Given the description of an element on the screen output the (x, y) to click on. 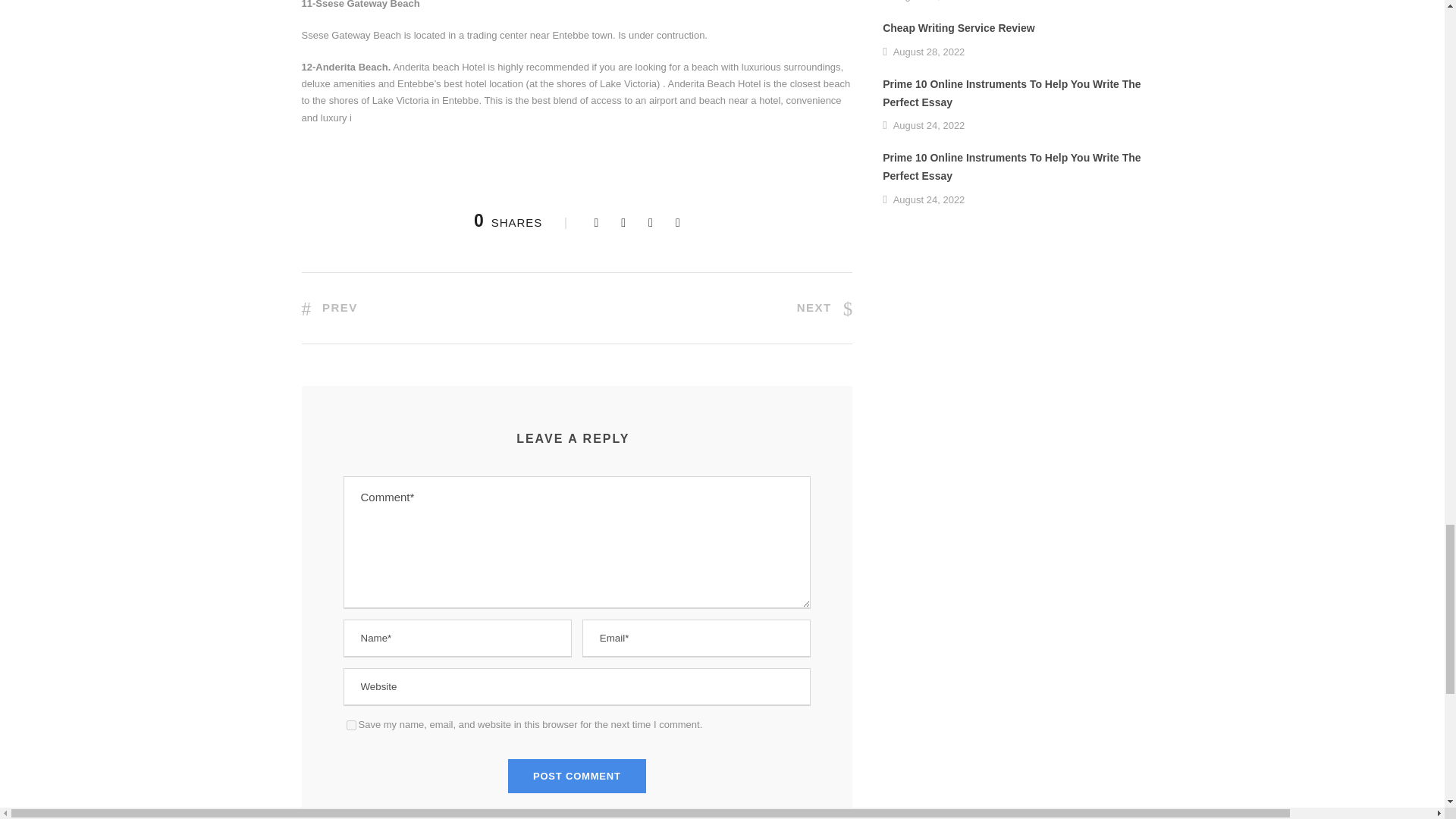
Post Comment (577, 776)
yes (350, 725)
